Given the description of an element on the screen output the (x, y) to click on. 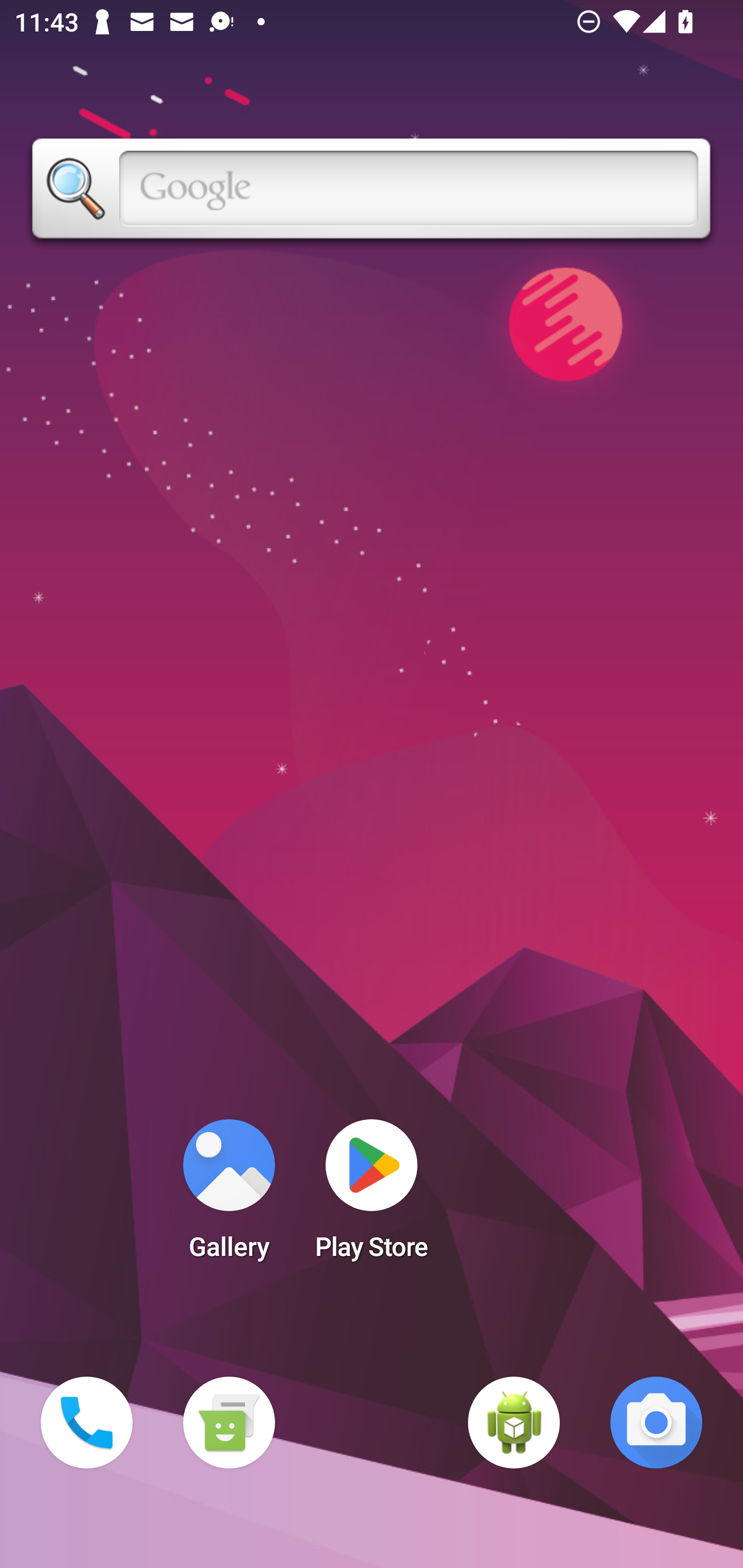
Gallery (228, 1195)
Play Store (371, 1195)
Phone (86, 1422)
Messaging (228, 1422)
WebView Browser Tester (513, 1422)
Camera (656, 1422)
